Given the description of an element on the screen output the (x, y) to click on. 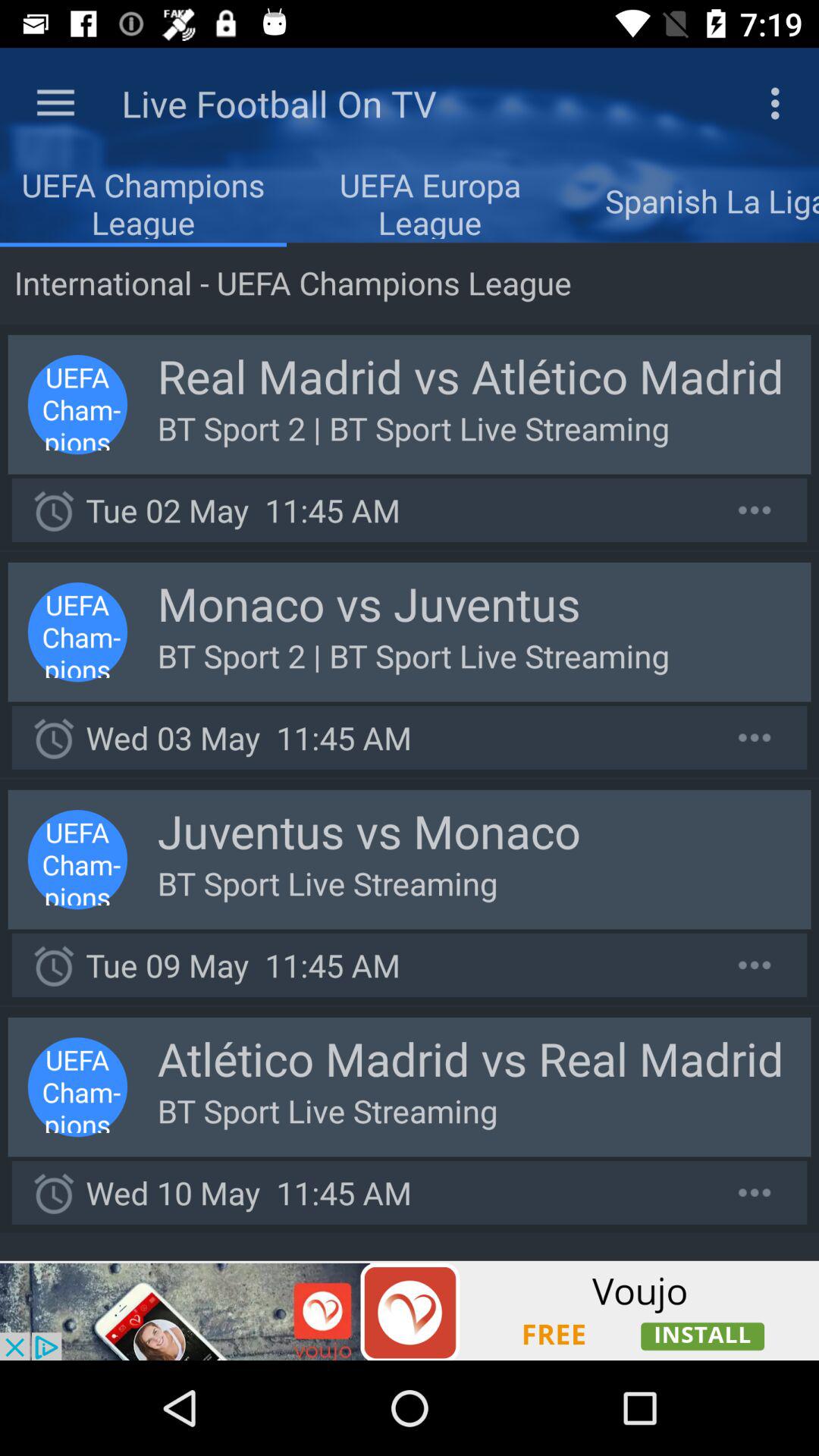
option (755, 965)
